Given the description of an element on the screen output the (x, y) to click on. 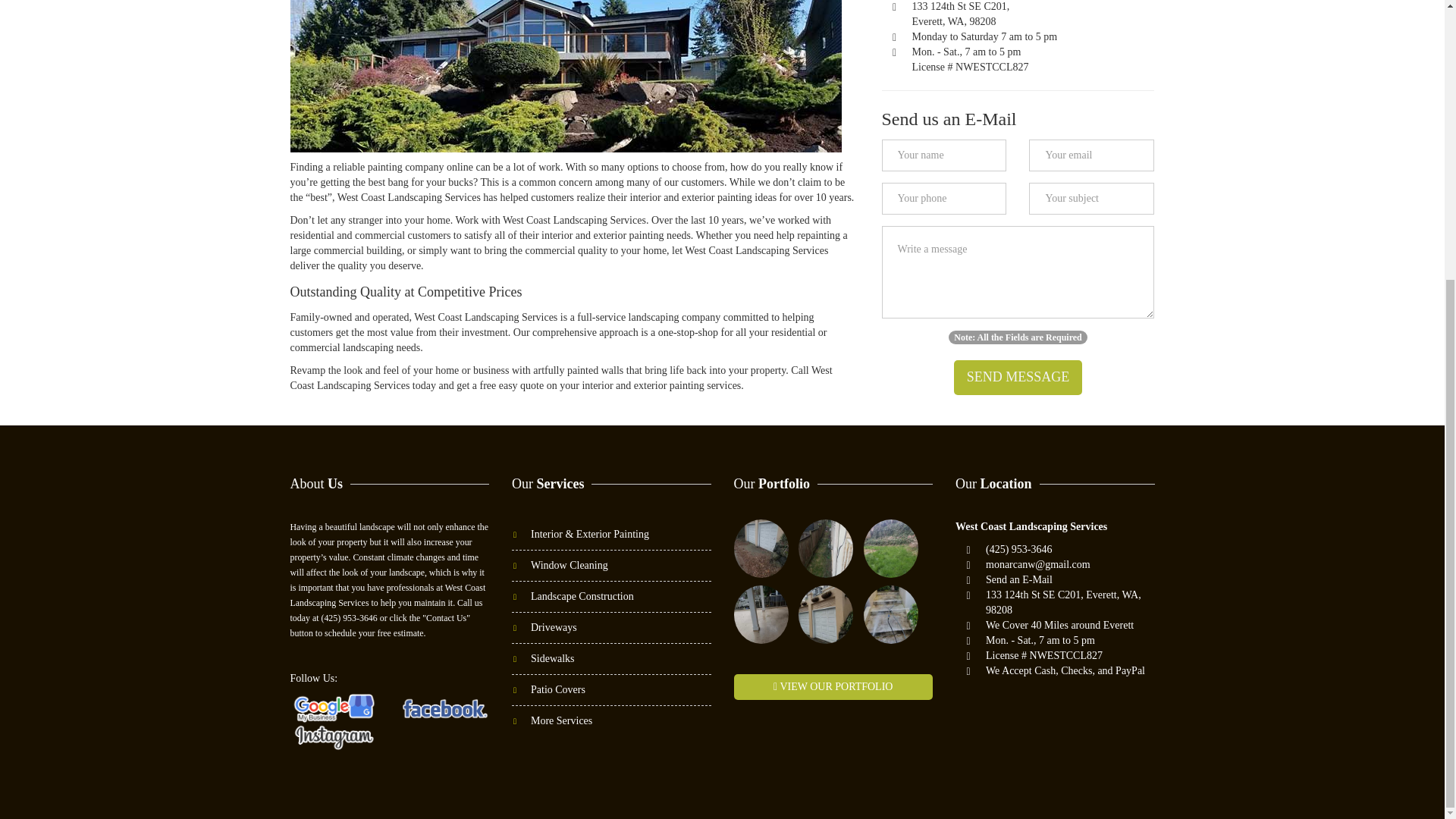
Patio Covers (548, 689)
VIEW OUR PORTFOLIO (833, 687)
Patio Covers (548, 689)
Sidewalks (543, 658)
Send Message (1018, 377)
Driveways (544, 627)
Sidewalks (543, 658)
Window Cleaning (560, 564)
Landscape Construction (572, 595)
Landscape Construction (572, 595)
Window Cleaning (560, 564)
Driveways (544, 627)
More Services (552, 720)
